Given the description of an element on the screen output the (x, y) to click on. 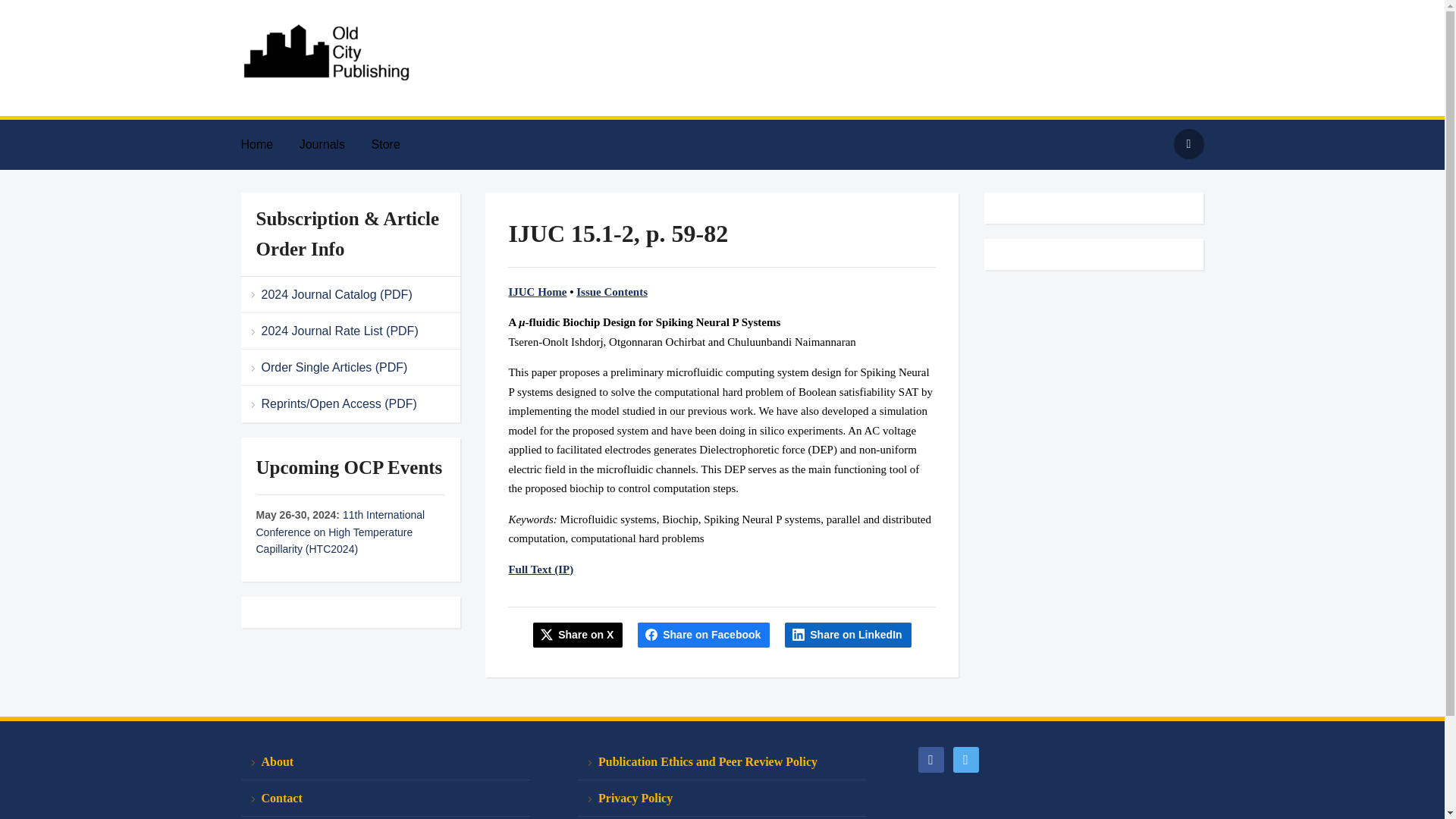
Share on LinkedIn (847, 634)
Store (397, 144)
IJUC Home (537, 291)
Share this on Facebook (703, 634)
facebook (930, 757)
Home (269, 144)
Journals (333, 144)
twitter (965, 757)
Contact (385, 798)
Privacy Policy (722, 798)
